Given the description of an element on the screen output the (x, y) to click on. 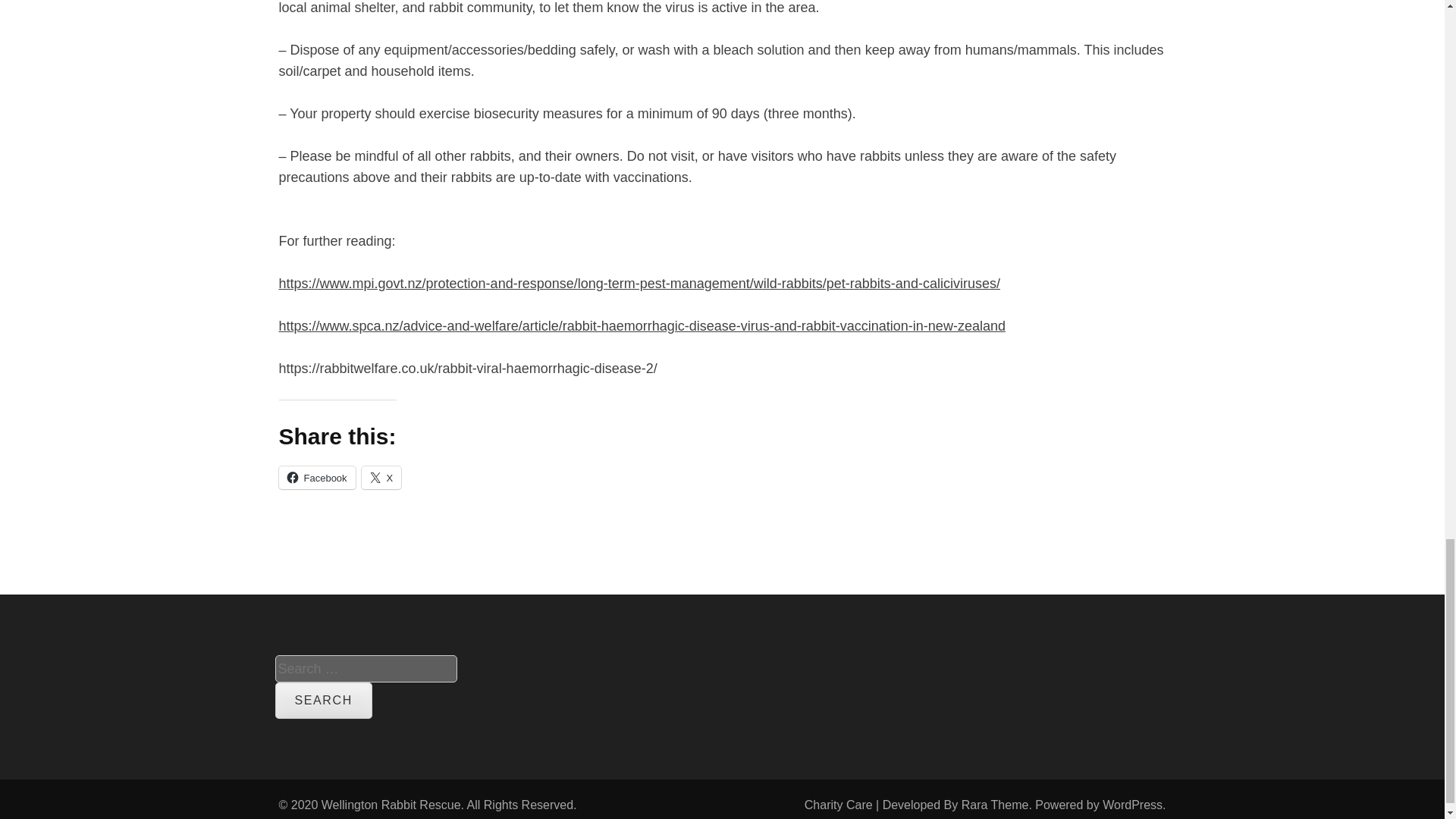
Search (323, 700)
Search (323, 700)
Click to share on Facebook (317, 477)
Click to share on X (381, 477)
